Given the description of an element on the screen output the (x, y) to click on. 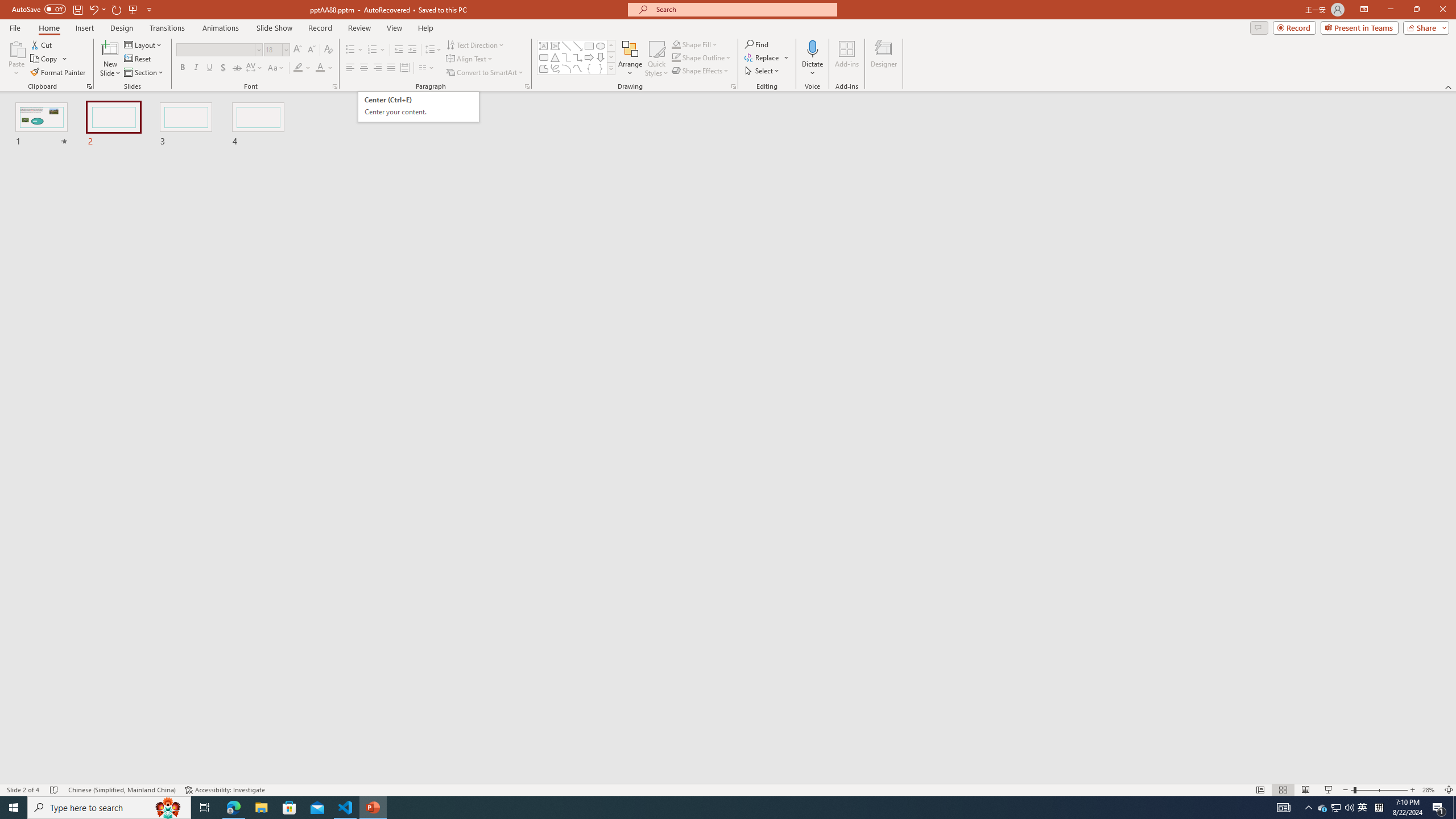
Paste (16, 48)
Layout (143, 44)
Vertical Text Box (554, 45)
Format Object... (733, 85)
AutomationID: ShapesInsertGallery (576, 57)
Accessibility Checker Accessibility: Investigate (224, 790)
Change Case (276, 67)
Select (762, 69)
Row Down (611, 56)
